Given the description of an element on the screen output the (x, y) to click on. 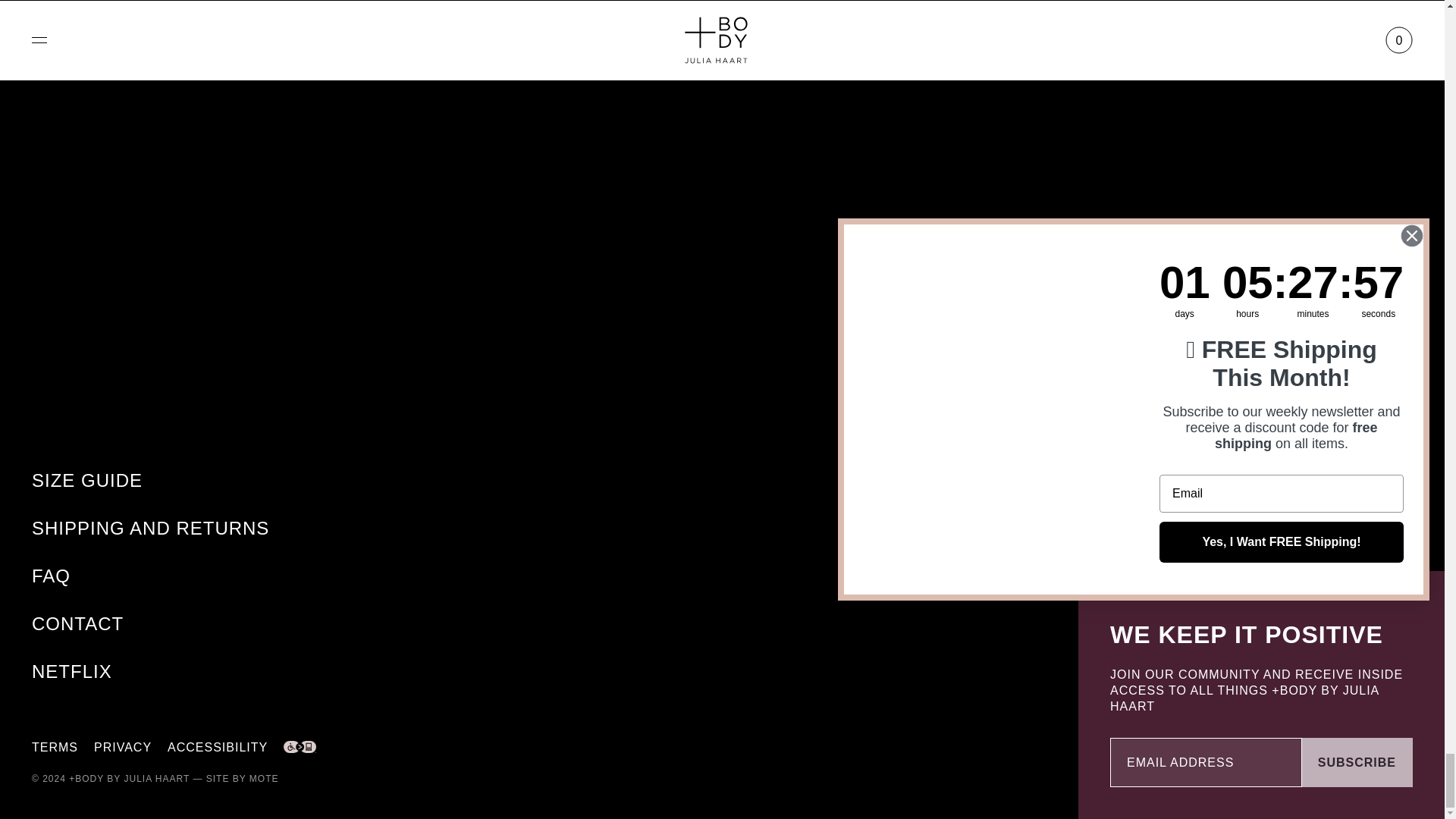
SITE BY MOTE (242, 778)
CONTACT (77, 623)
NETFLIX (72, 670)
SIZE GUIDE (87, 480)
PRIVACY (122, 747)
FAQ (50, 575)
ACCESSIBILITY (217, 747)
TERMS (55, 747)
SHIPPING AND RETURNS (150, 527)
